Given the description of an element on the screen output the (x, y) to click on. 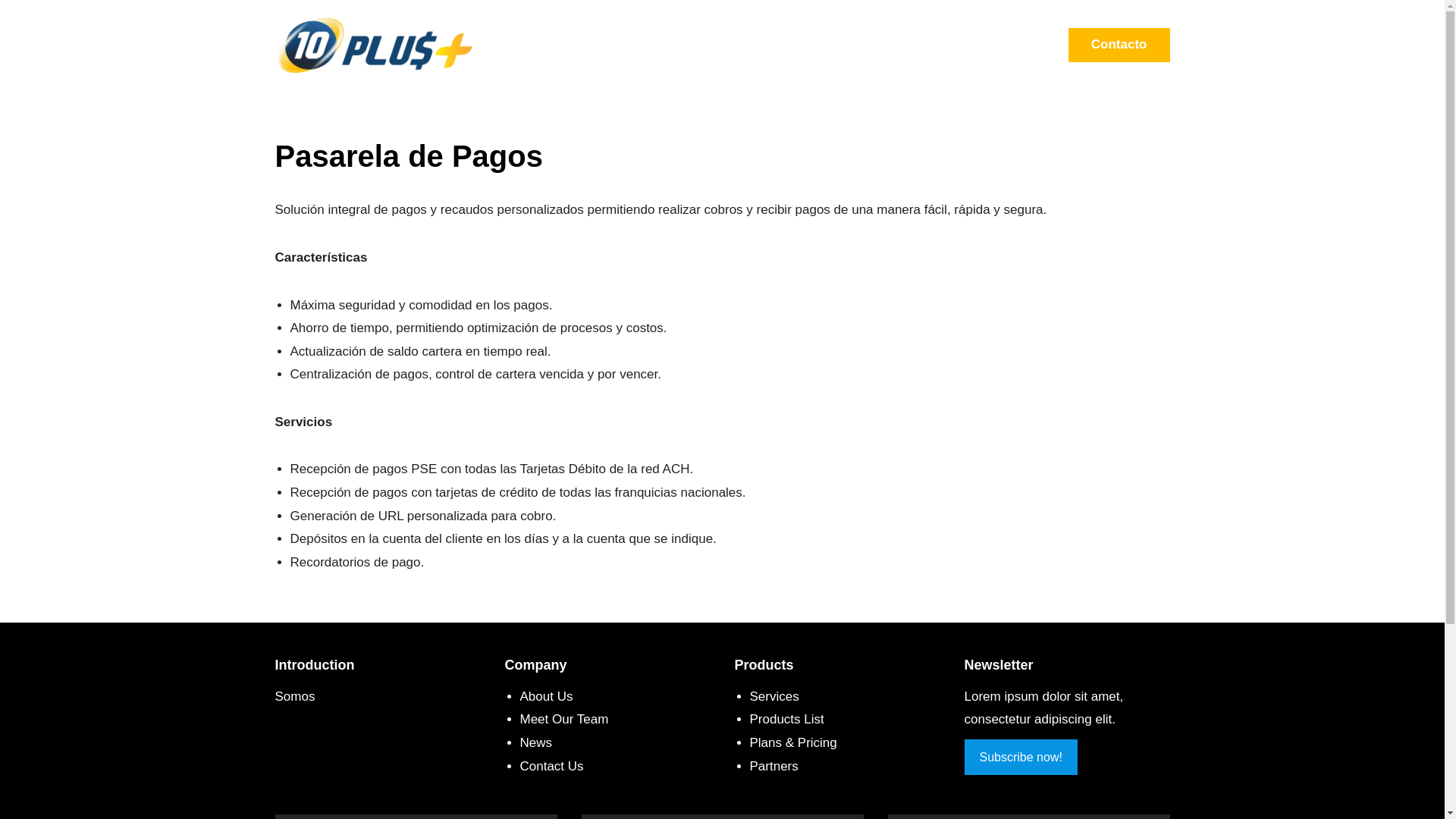
Contacto Element type: text (1119, 45)
Meet Our Team Element type: text (564, 719)
Subscribe now! Element type: text (1020, 757)
Plans & Pricing Element type: text (792, 742)
Services Element type: text (773, 696)
Contact Us Element type: text (551, 766)
News Element type: text (536, 742)
Partners Element type: text (773, 766)
Products List Element type: text (786, 719)
About Us Element type: text (546, 696)
